Given the description of an element on the screen output the (x, y) to click on. 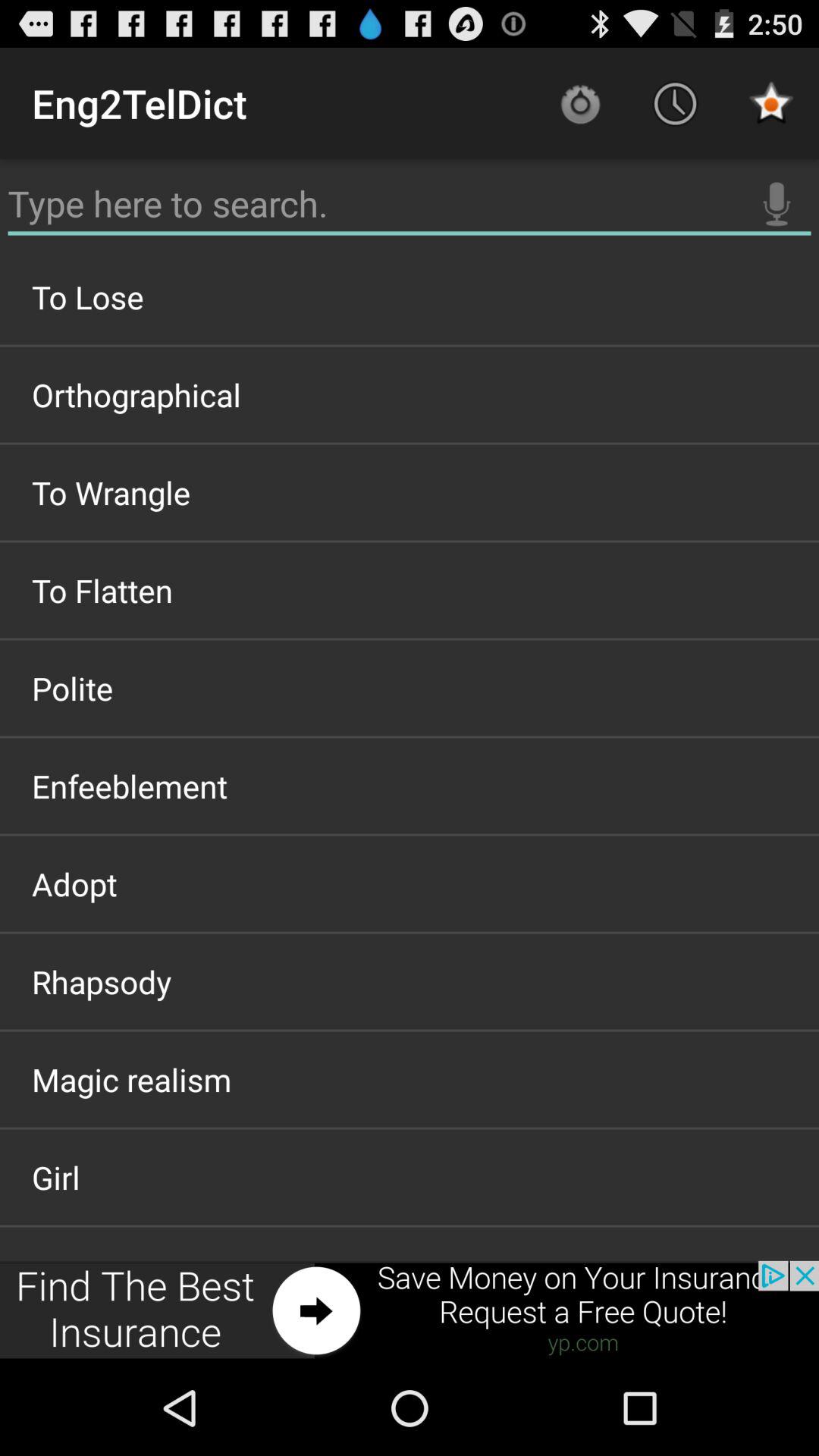
microphone (776, 204)
